Given the description of an element on the screen output the (x, y) to click on. 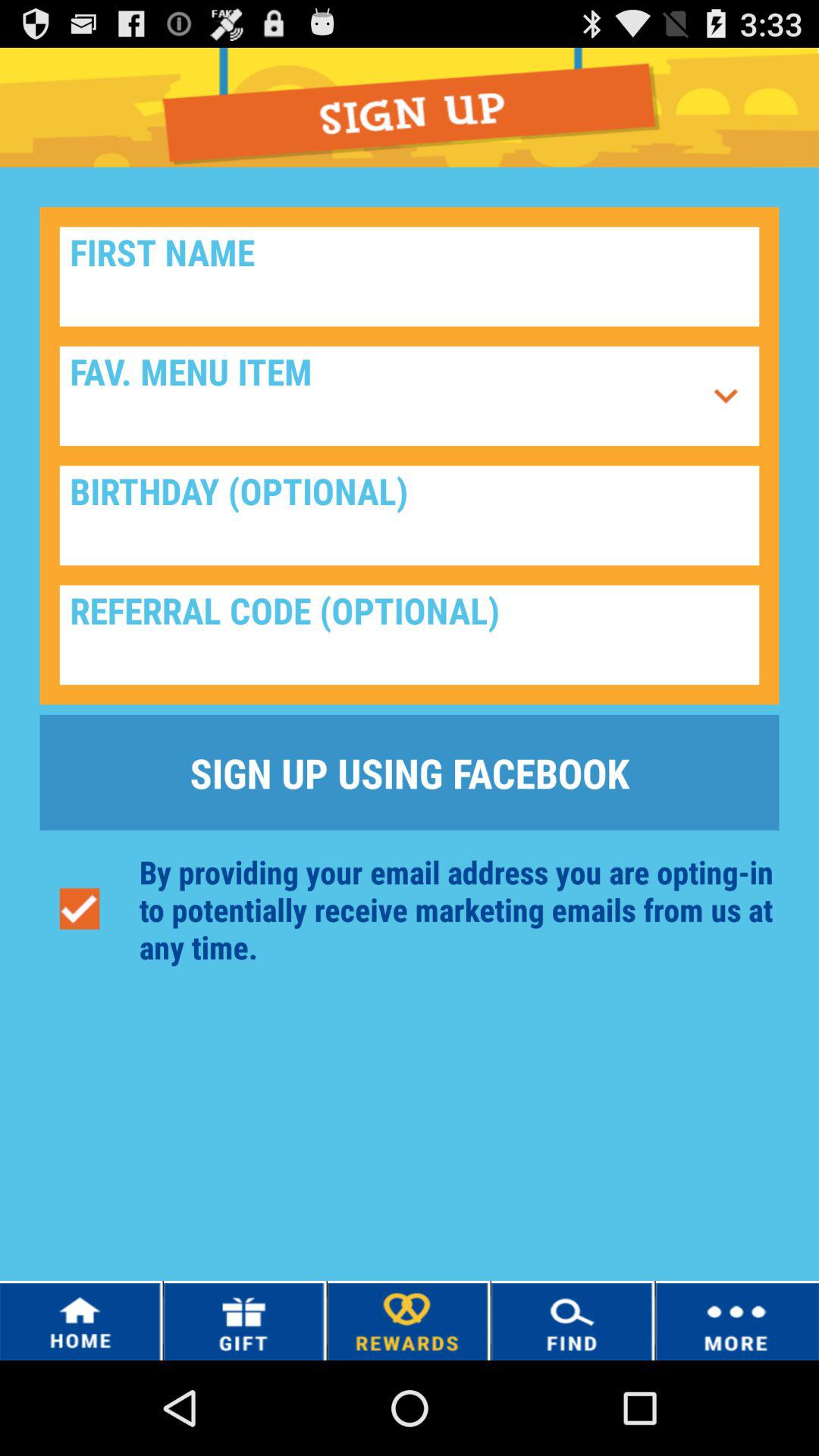
opt in (79, 909)
